Given the description of an element on the screen output the (x, y) to click on. 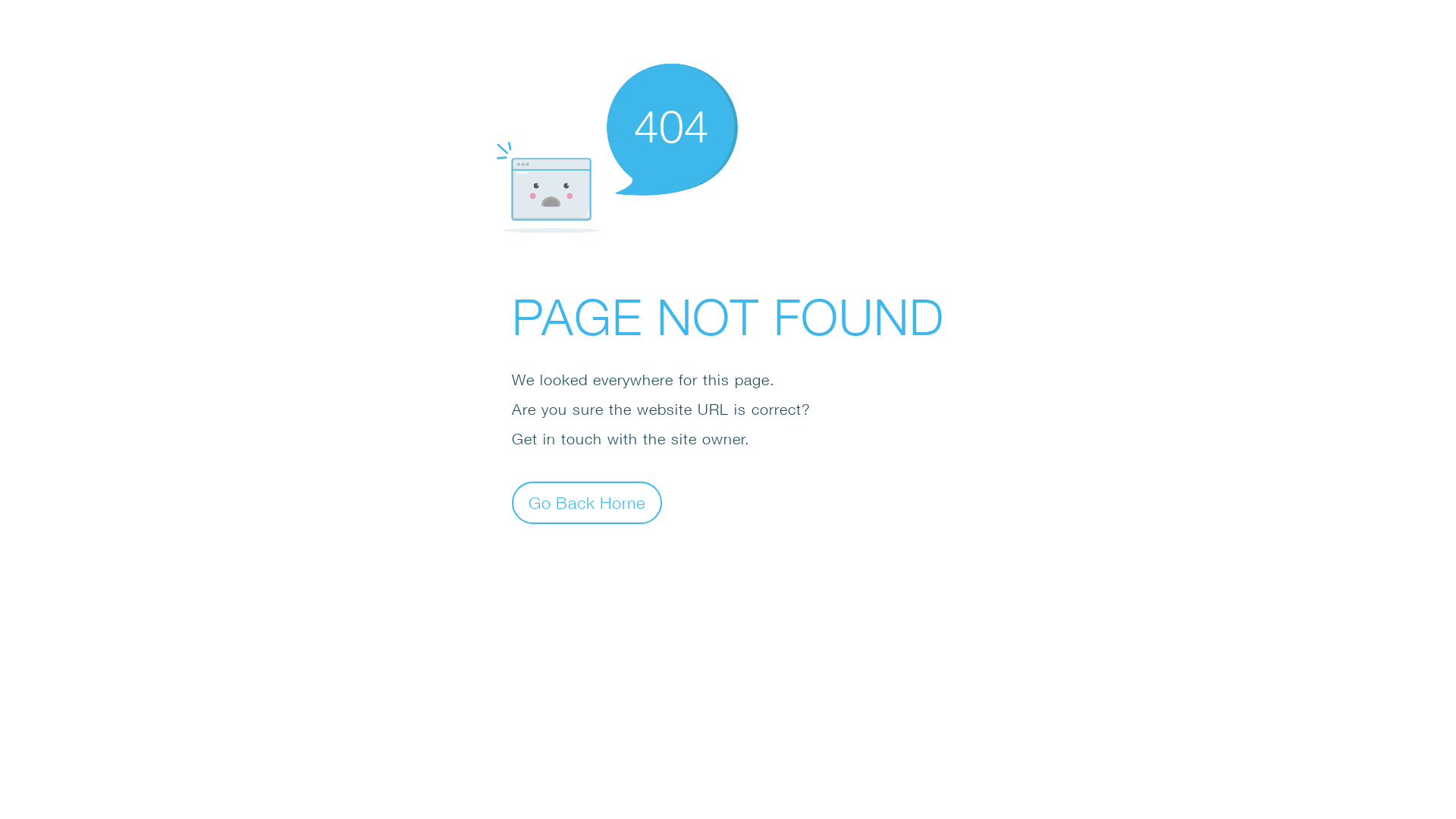
Go Back Home Element type: text (586, 502)
